Given the description of an element on the screen output the (x, y) to click on. 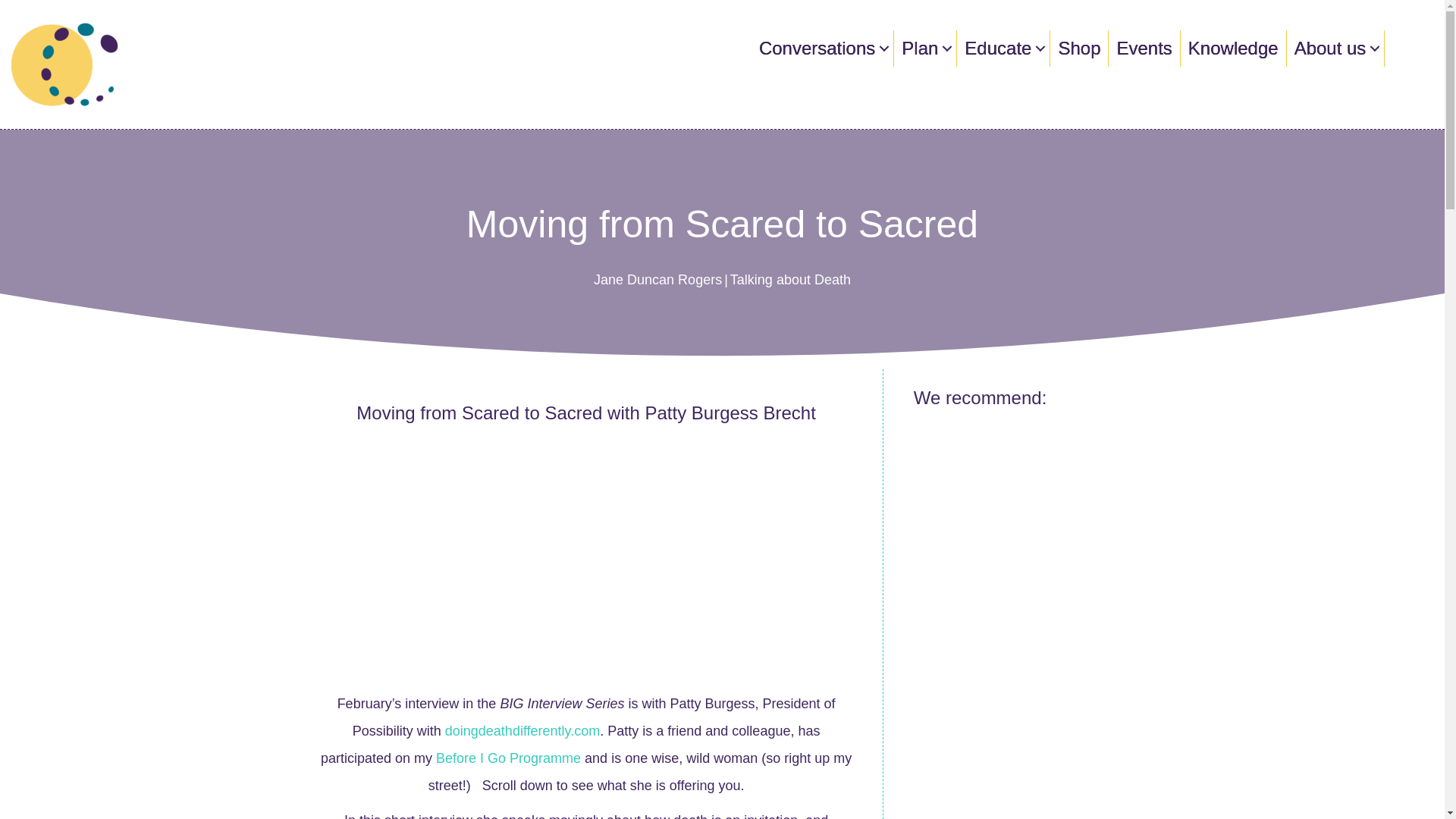
Knowledge (1232, 48)
Before I Go Programme (507, 758)
Events (1143, 48)
Plan (924, 48)
Talking about Death (790, 279)
Search (1399, 48)
Shop (1078, 48)
doingdeathdifferently.com (522, 730)
Jane Duncan Rogers (658, 279)
About us (1335, 48)
Educate (1002, 48)
Conversations (822, 48)
